Given the description of an element on the screen output the (x, y) to click on. 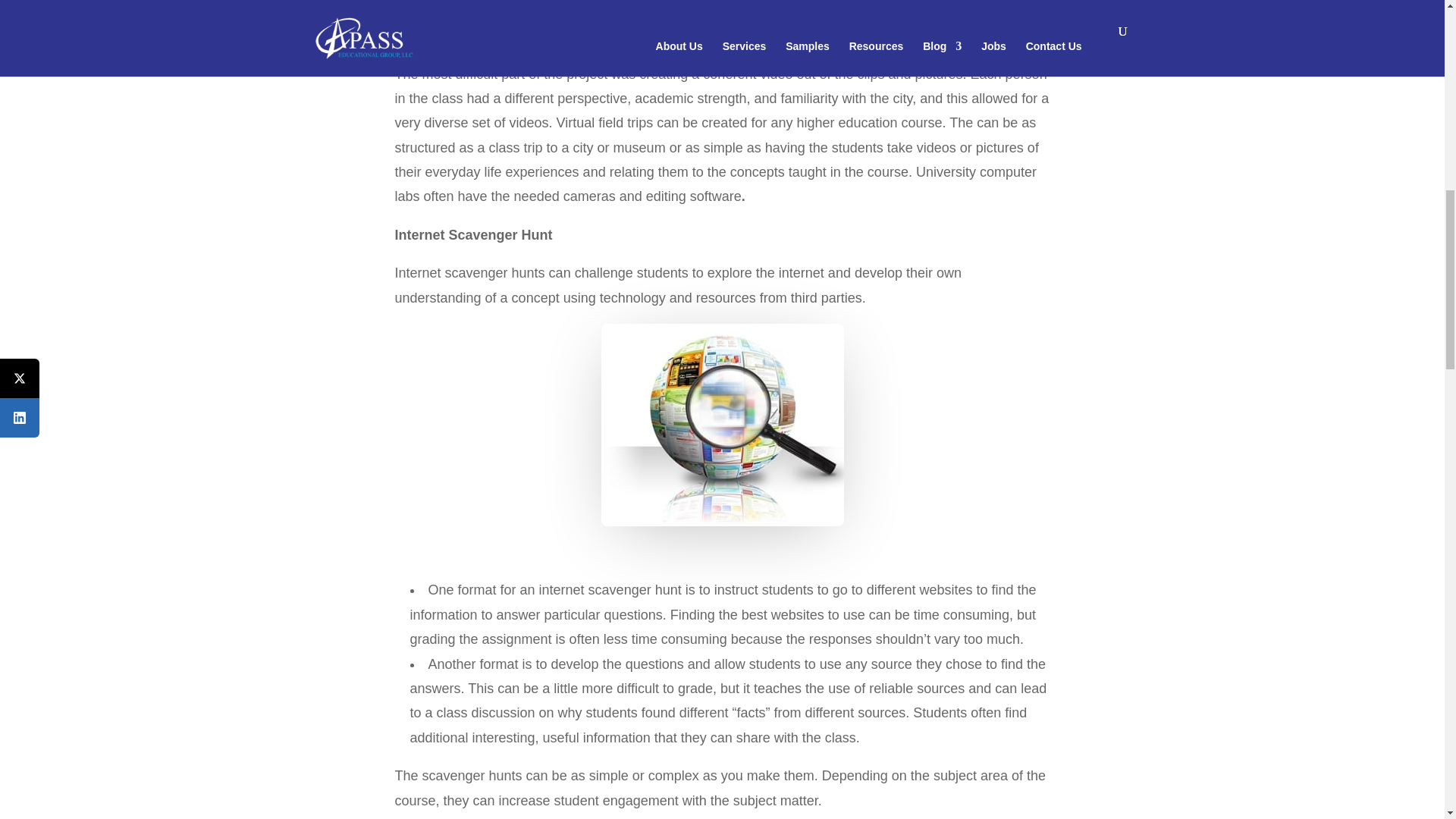
globe and magnifier glass (721, 424)
